Given the description of an element on the screen output the (x, y) to click on. 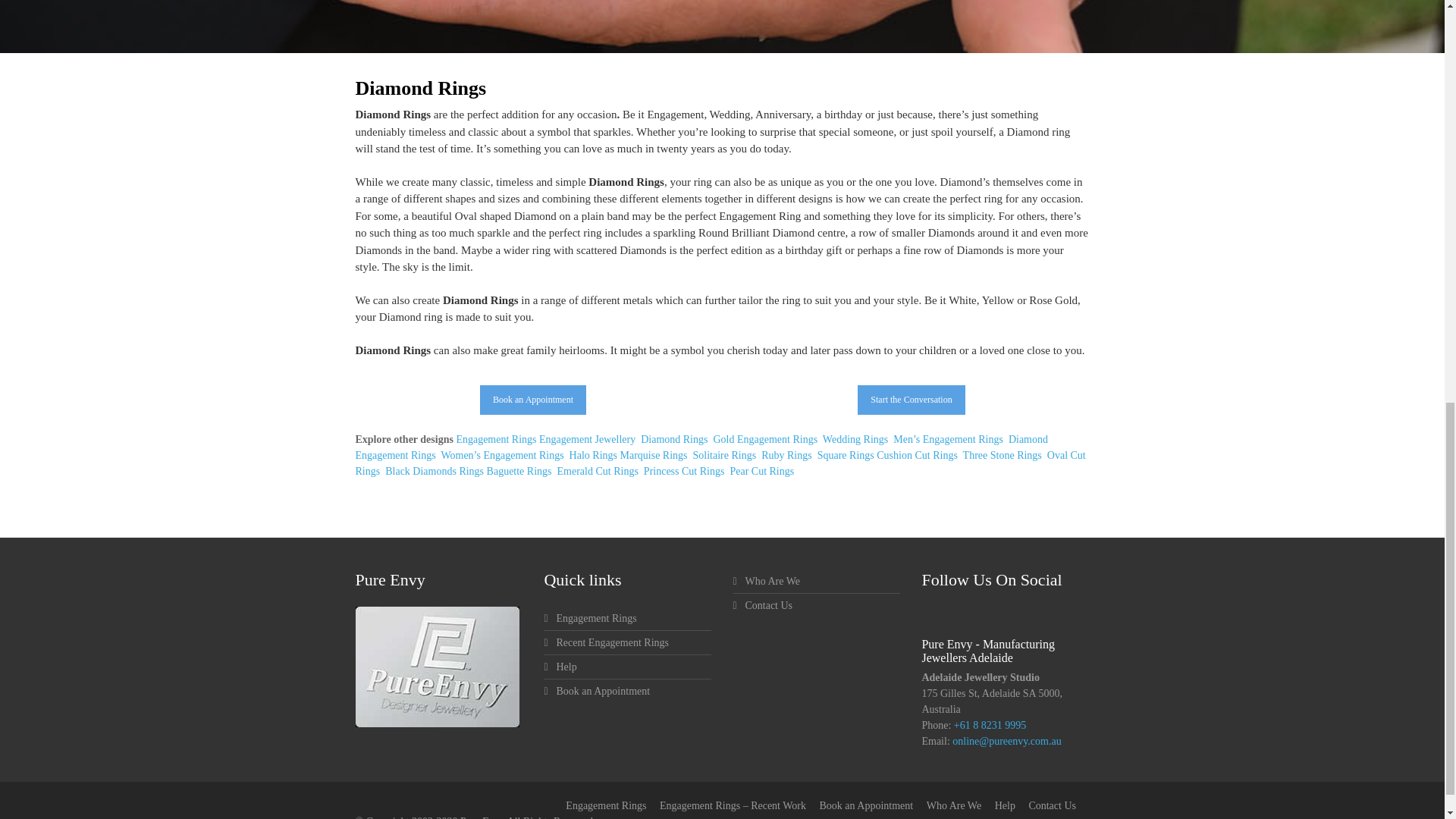
Start the Conversation (910, 399)
 Wedding Rings (854, 439)
Engagement Jewellery (586, 439)
Book an Appointment (533, 399)
 Diamond Rings (673, 439)
 Gold Engagement Rings (763, 439)
Engagement Rings (495, 439)
Diamond Engagement Rings (701, 447)
